Given the description of an element on the screen output the (x, y) to click on. 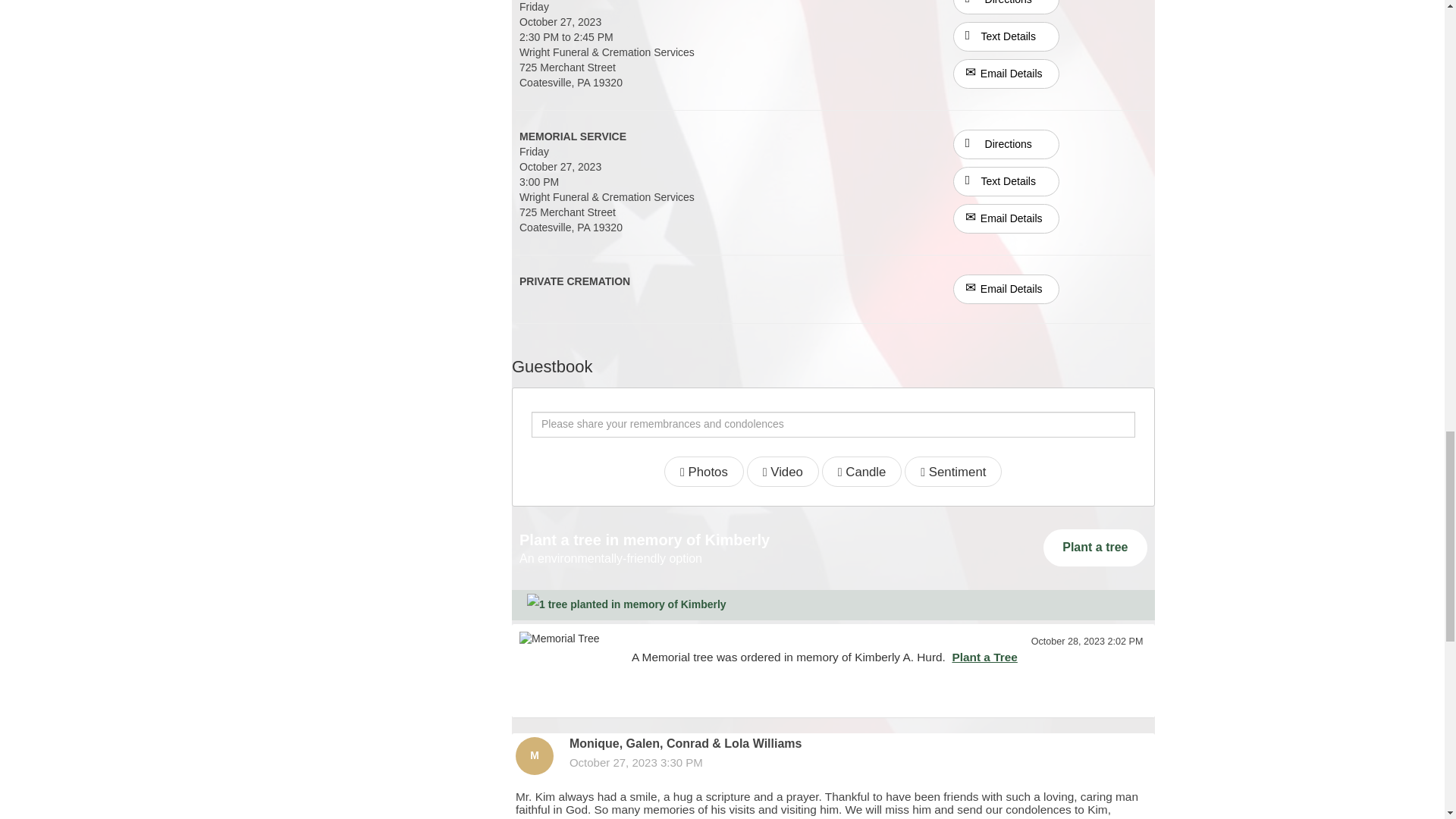
Directions (1006, 143)
Plant a tree (1095, 547)
Text Details (1006, 181)
Email Details (1006, 288)
Directions (1006, 7)
Text Details (1006, 36)
Directions (1006, 2)
Plant a Tree (984, 656)
Email Details (1006, 73)
Plant a tree (1095, 547)
Directions (1006, 143)
Email Details (1006, 218)
